Given the description of an element on the screen output the (x, y) to click on. 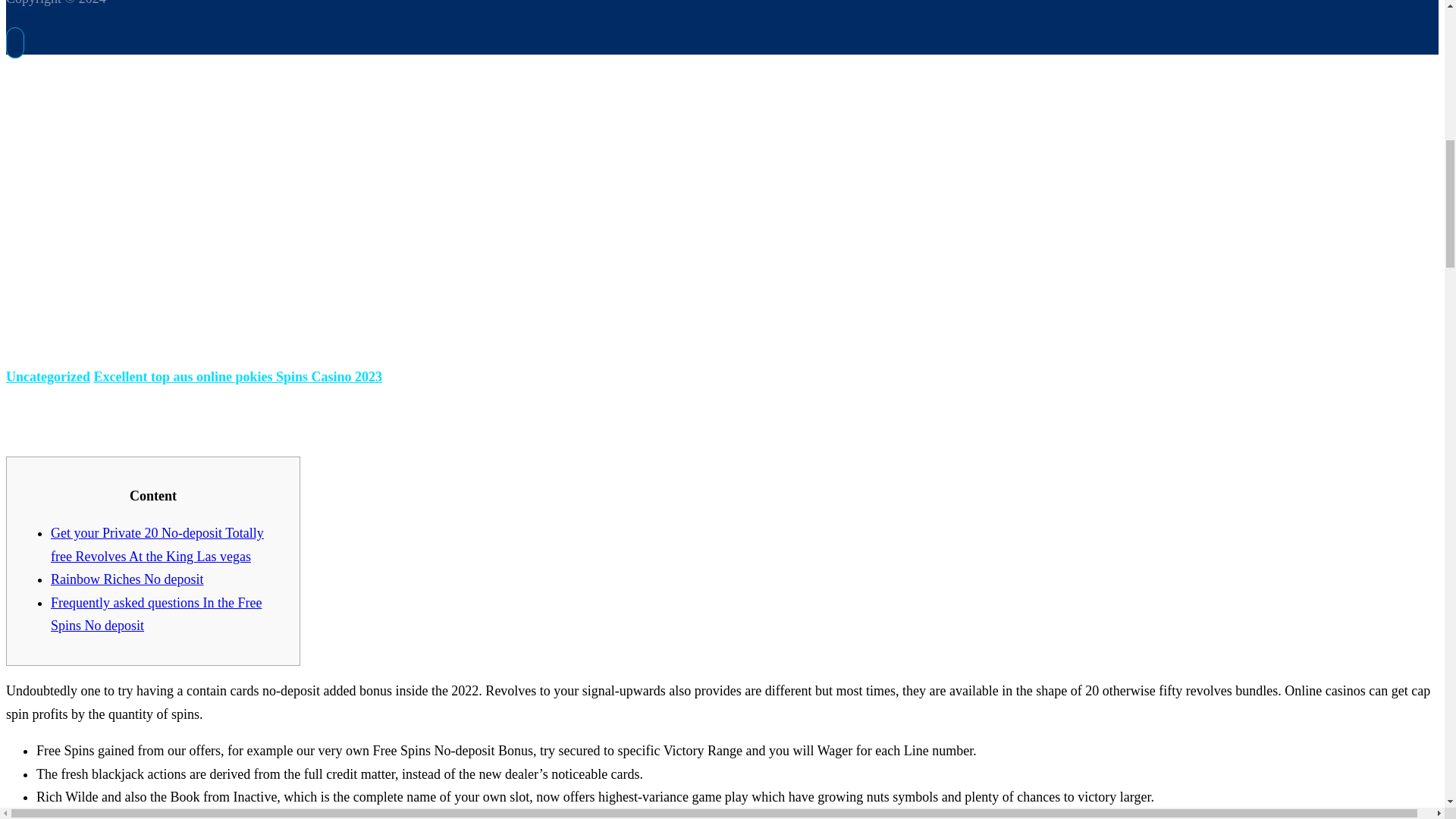
Uncategorized (47, 376)
Frequently asked questions In the Free Spins No deposit (156, 614)
Excellent top aus online pokies Spins Casino 2023 (237, 376)
Rainbow Riches No deposit (126, 579)
